Given the description of an element on the screen output the (x, y) to click on. 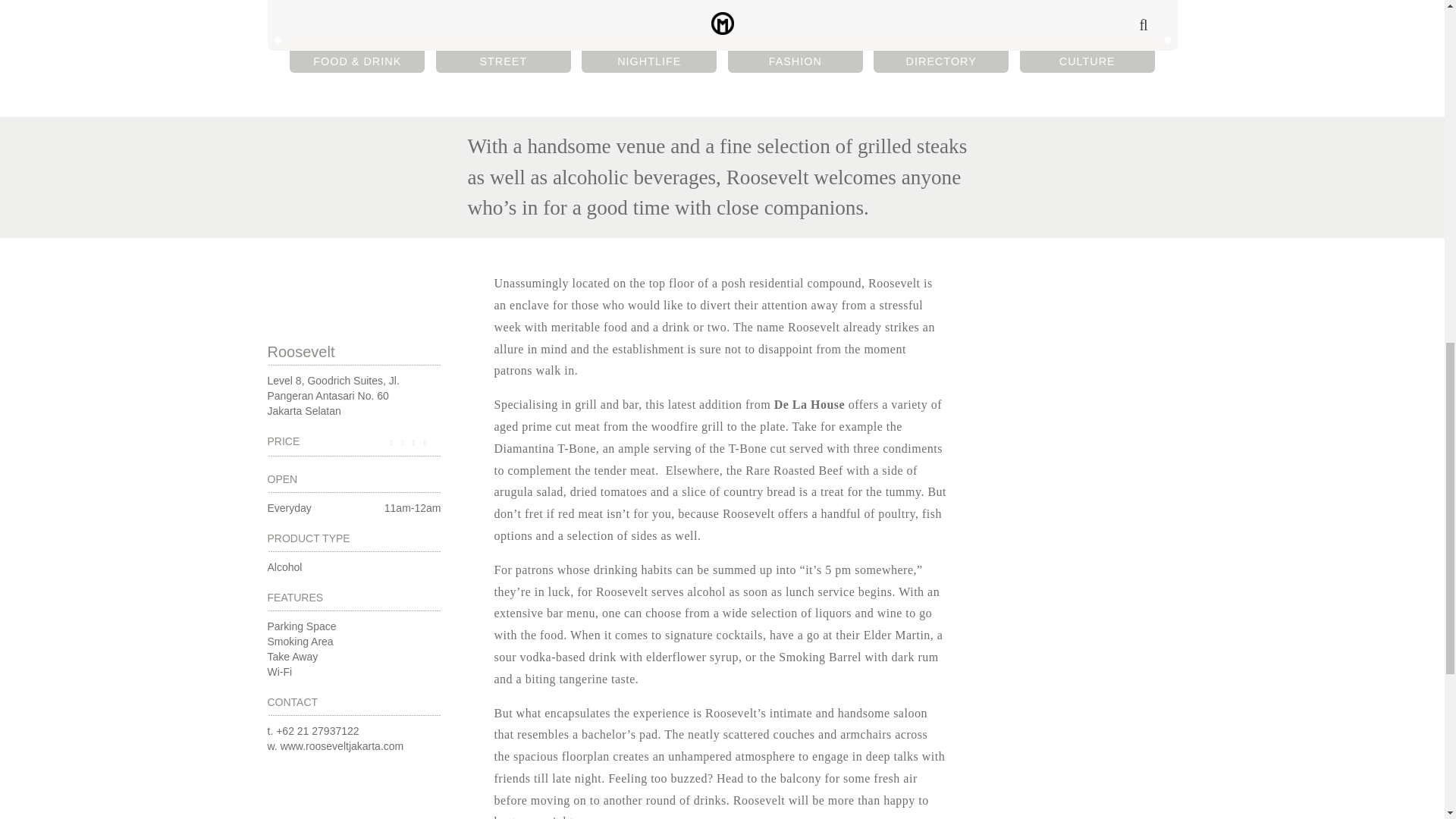
View on Google Maps (339, 235)
www.rooseveltjakarta.com (342, 746)
Smoking Area (299, 641)
Take Away (291, 656)
Visit Roosevelt Website (342, 746)
Roosevelt (353, 350)
Share on Facebook (504, 60)
Parking Space (301, 625)
Call Roosevelt (317, 730)
